Given the description of an element on the screen output the (x, y) to click on. 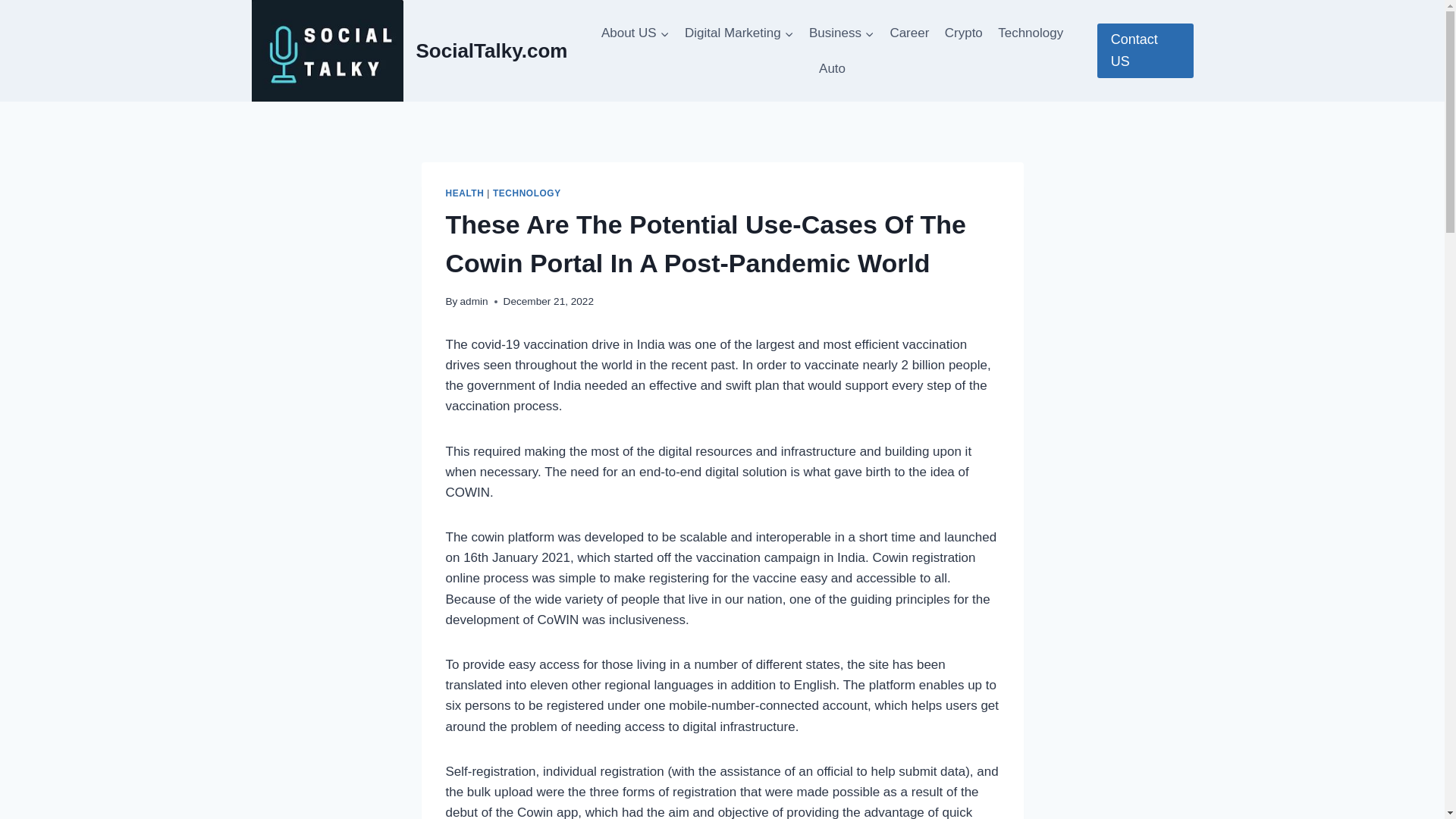
SocialTalky.com (409, 50)
Contact US (1145, 50)
About US (635, 33)
Digital Marketing (739, 33)
HEALTH (464, 193)
admin (473, 301)
Business (842, 33)
Crypto (963, 33)
Technology (1030, 33)
TECHNOLOGY (526, 193)
Career (909, 33)
Auto (831, 68)
